Given the description of an element on the screen output the (x, y) to click on. 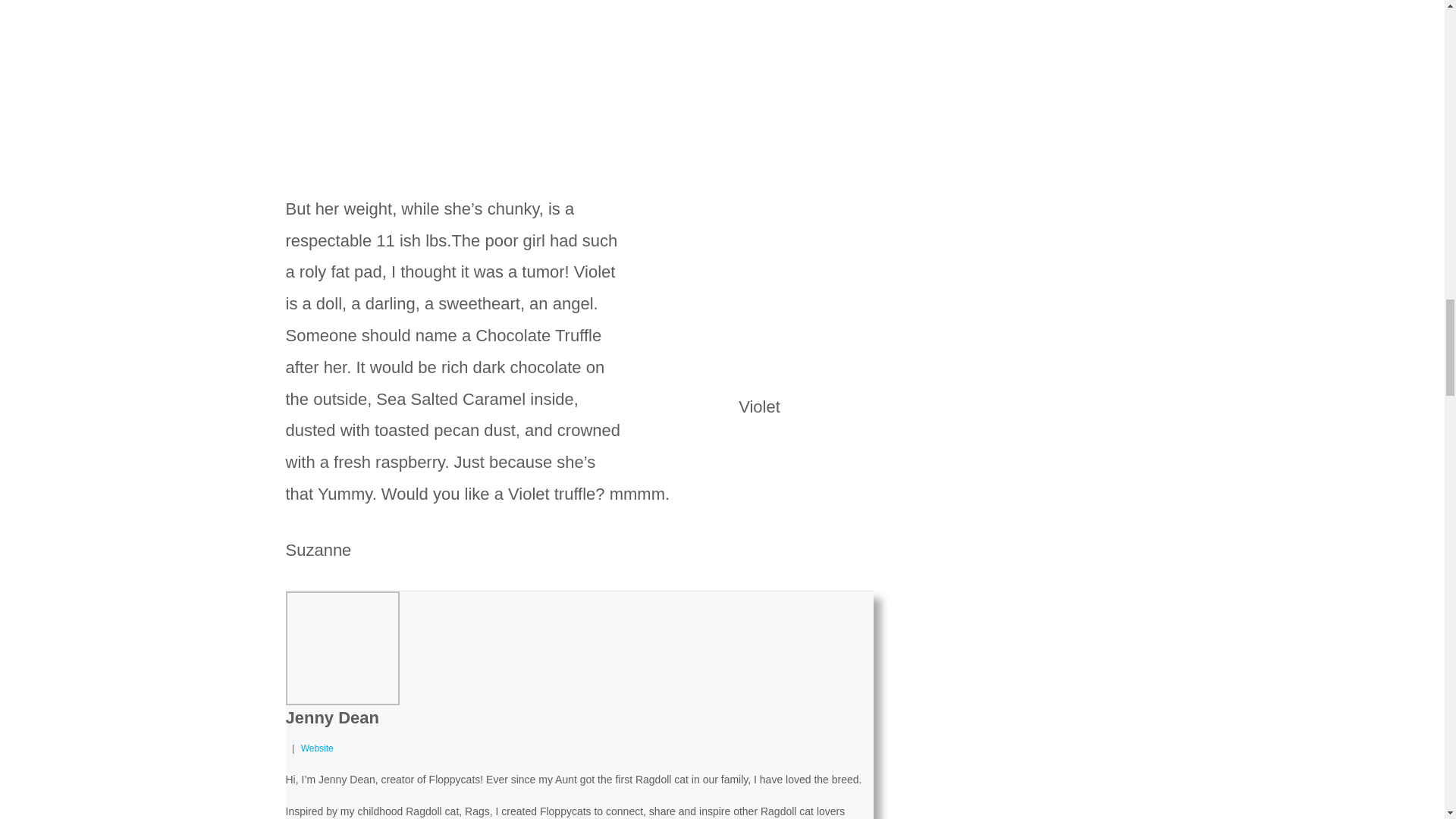
llll (759, 285)
Website (317, 747)
Jenny Dean (331, 717)
